Given the description of an element on the screen output the (x, y) to click on. 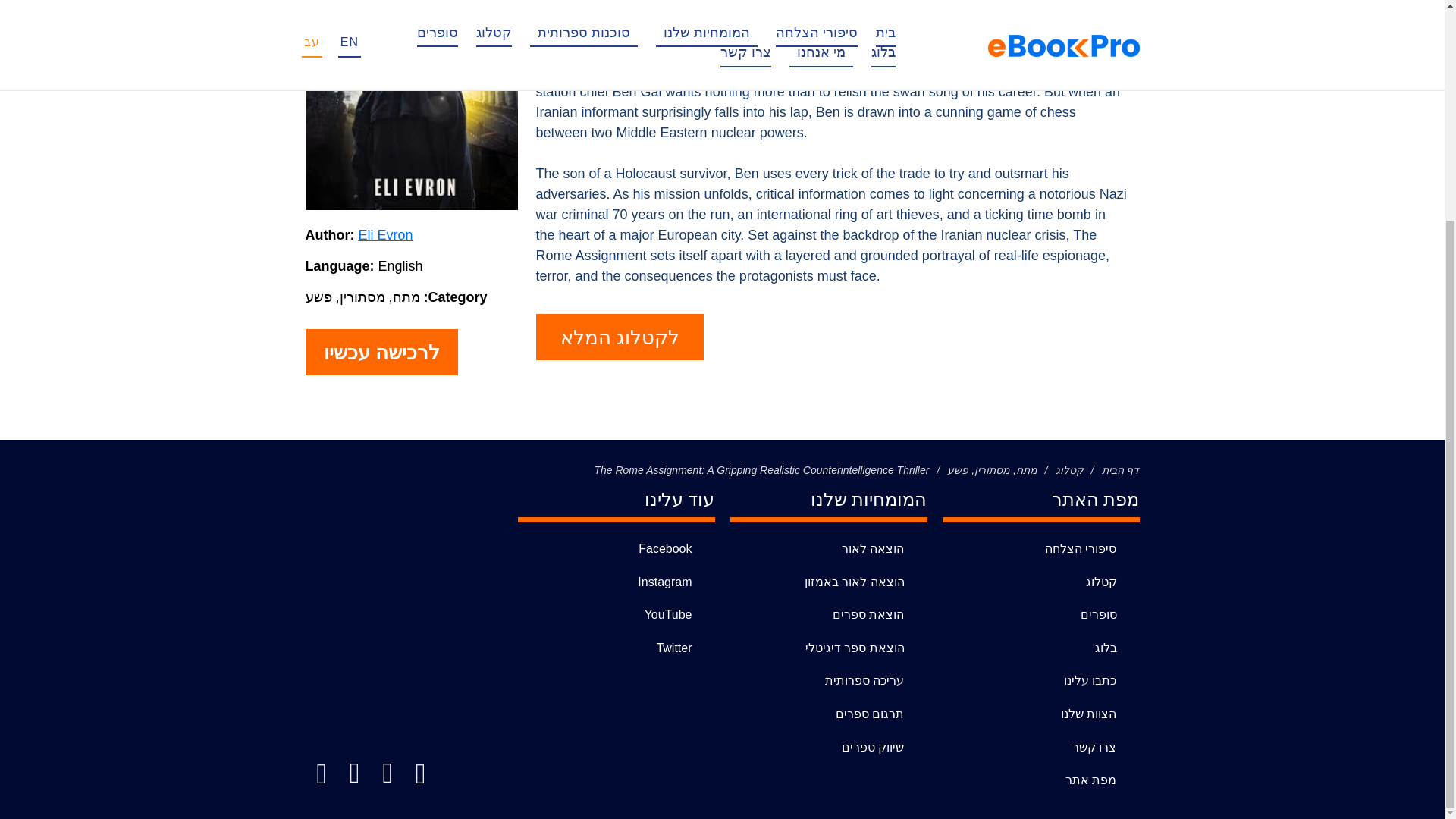
Eli Evron (385, 234)
